Given the description of an element on the screen output the (x, y) to click on. 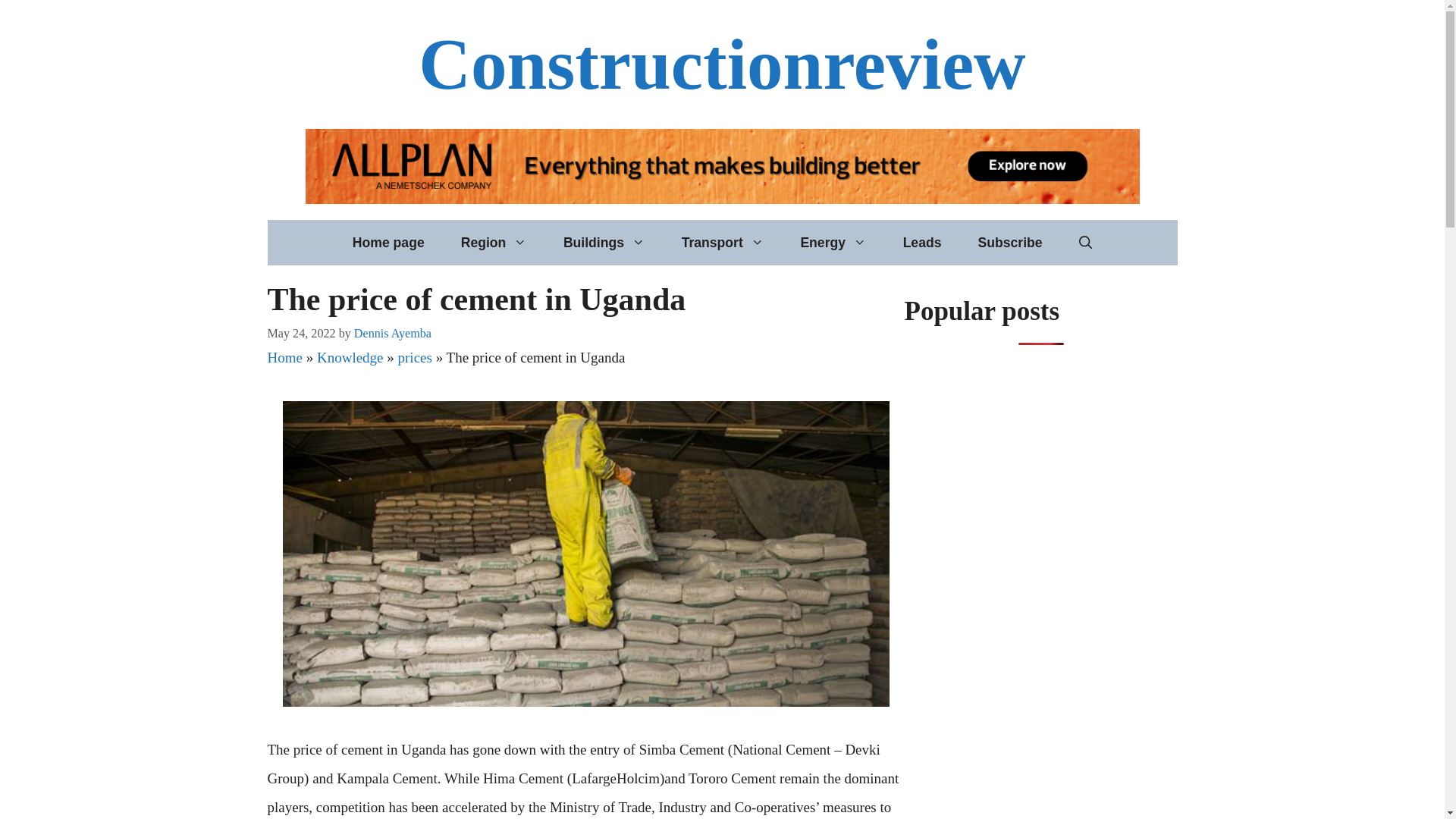
Region (493, 242)
Energy (832, 242)
Constructionreview (722, 64)
Subscribe (1009, 242)
Home page (388, 242)
Transport (723, 242)
Buildings (603, 242)
View all posts by Dennis Ayemba (391, 332)
Leads (922, 242)
